Given the description of an element on the screen output the (x, y) to click on. 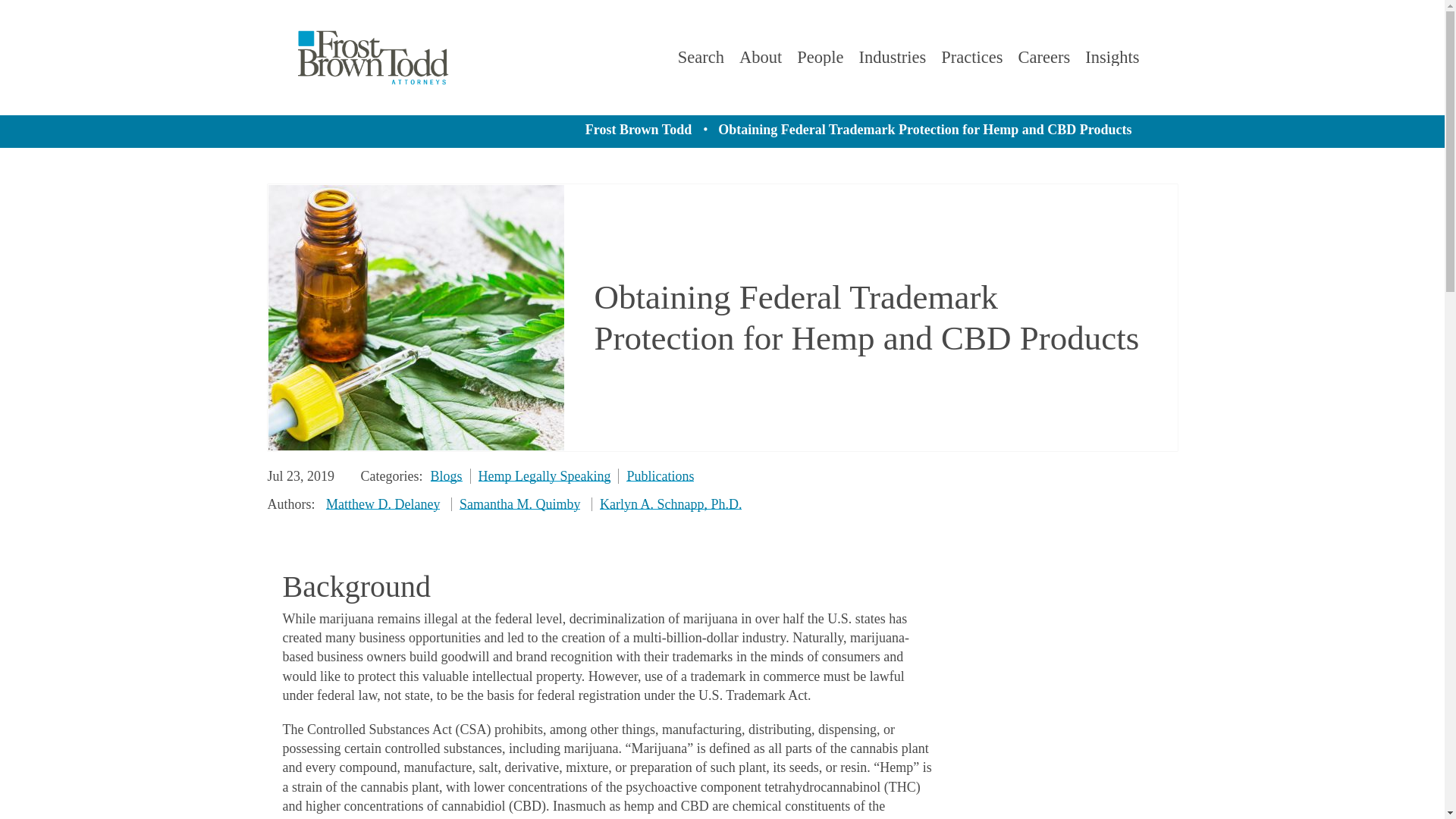
People (819, 56)
Industries (892, 57)
Search (700, 56)
About (760, 57)
